Given the description of an element on the screen output the (x, y) to click on. 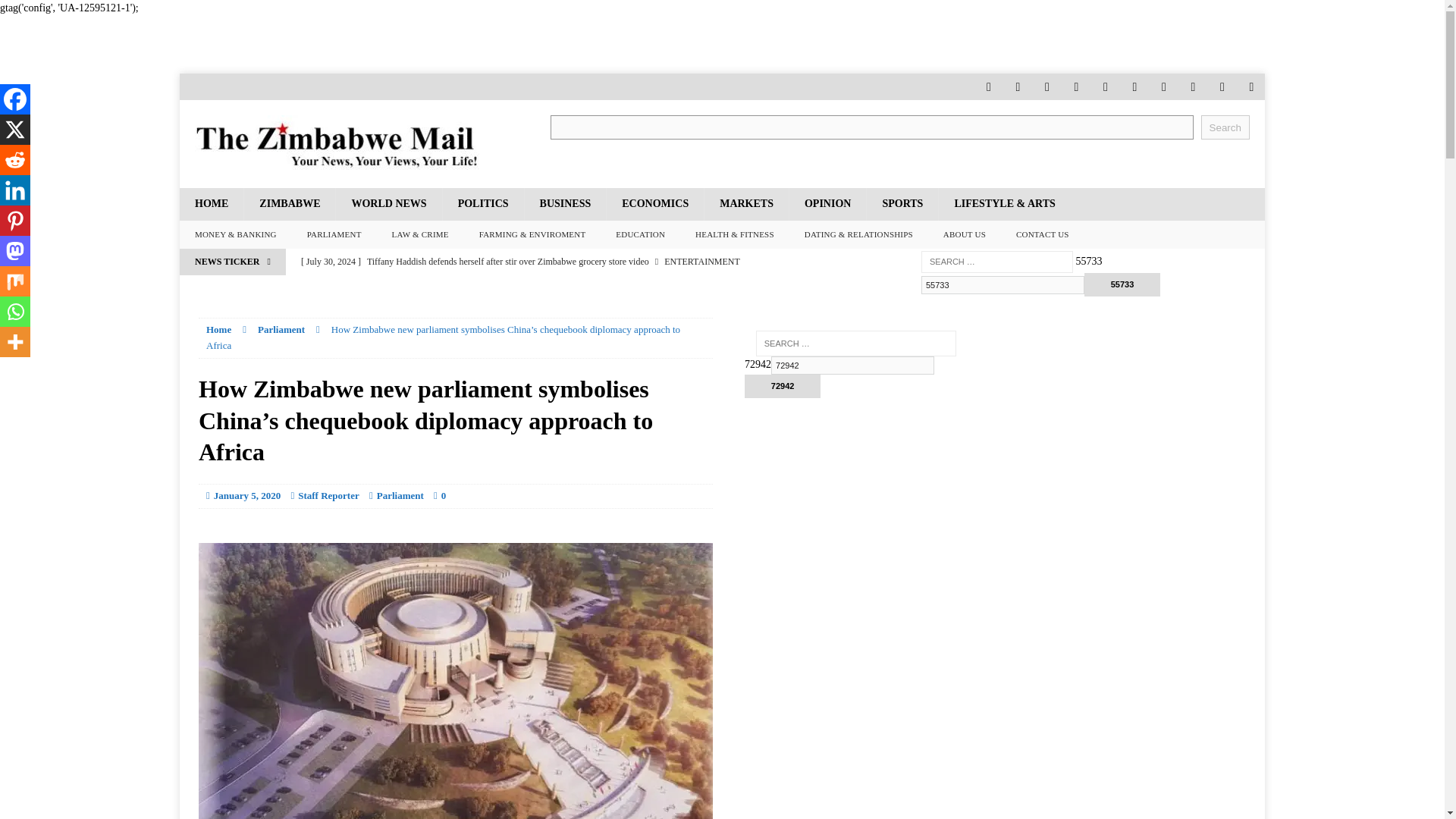
72942 (782, 386)
ZIMBABWE (288, 204)
ABOUT US (964, 234)
OPINION (827, 204)
72942 (782, 386)
EDUCATION (639, 234)
HOME (211, 204)
55733 (1122, 284)
55733 (1122, 284)
72942 (852, 365)
ECONOMICS (654, 204)
MARKETS (746, 204)
72942 (852, 365)
The Zimbabwe Mail (350, 143)
